Given the description of an element on the screen output the (x, y) to click on. 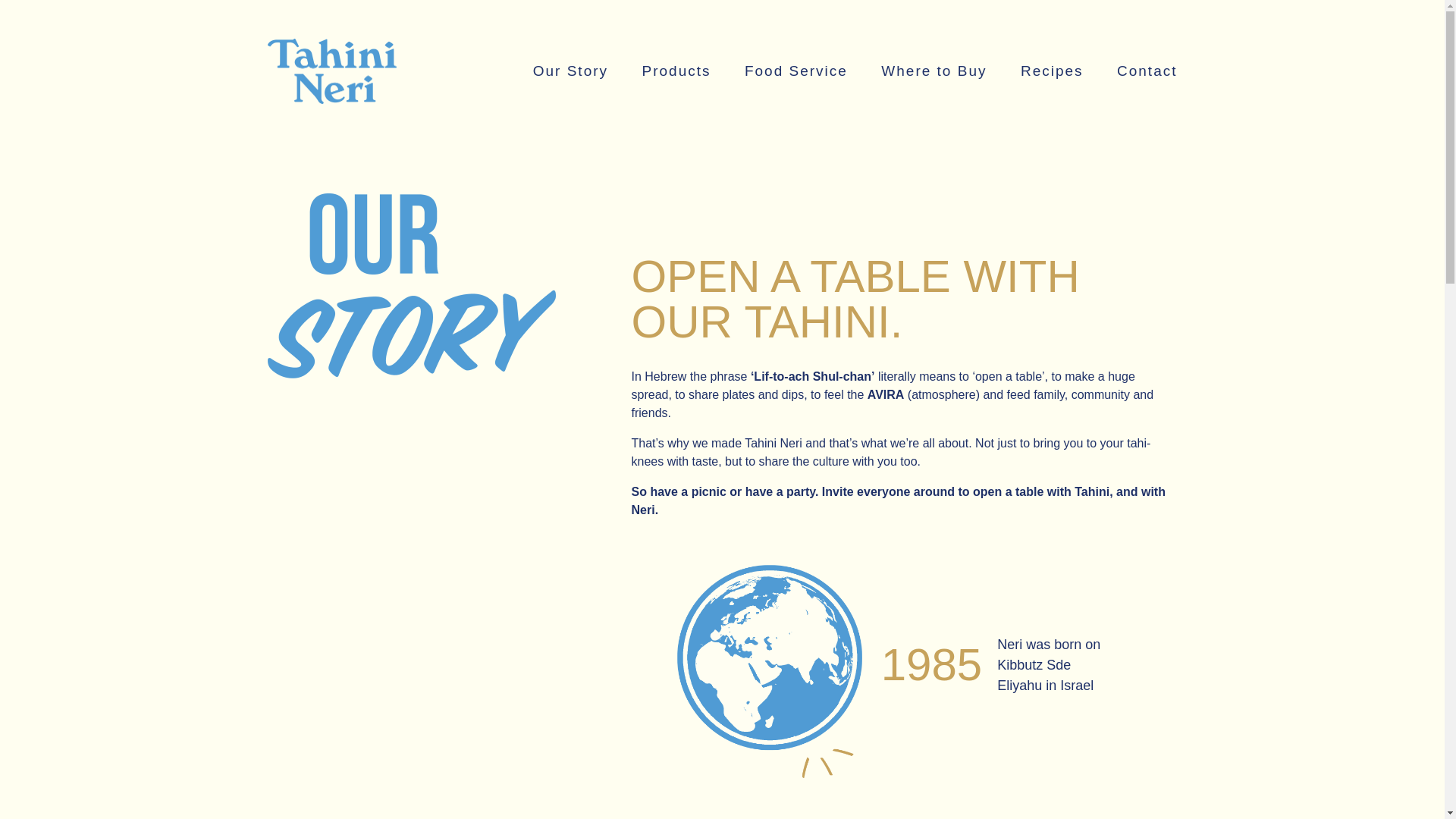
Contact (1146, 71)
Where to Buy (933, 71)
Recipes (1051, 71)
Products (676, 71)
Food Service (795, 71)
Our Story (570, 71)
